Given the description of an element on the screen output the (x, y) to click on. 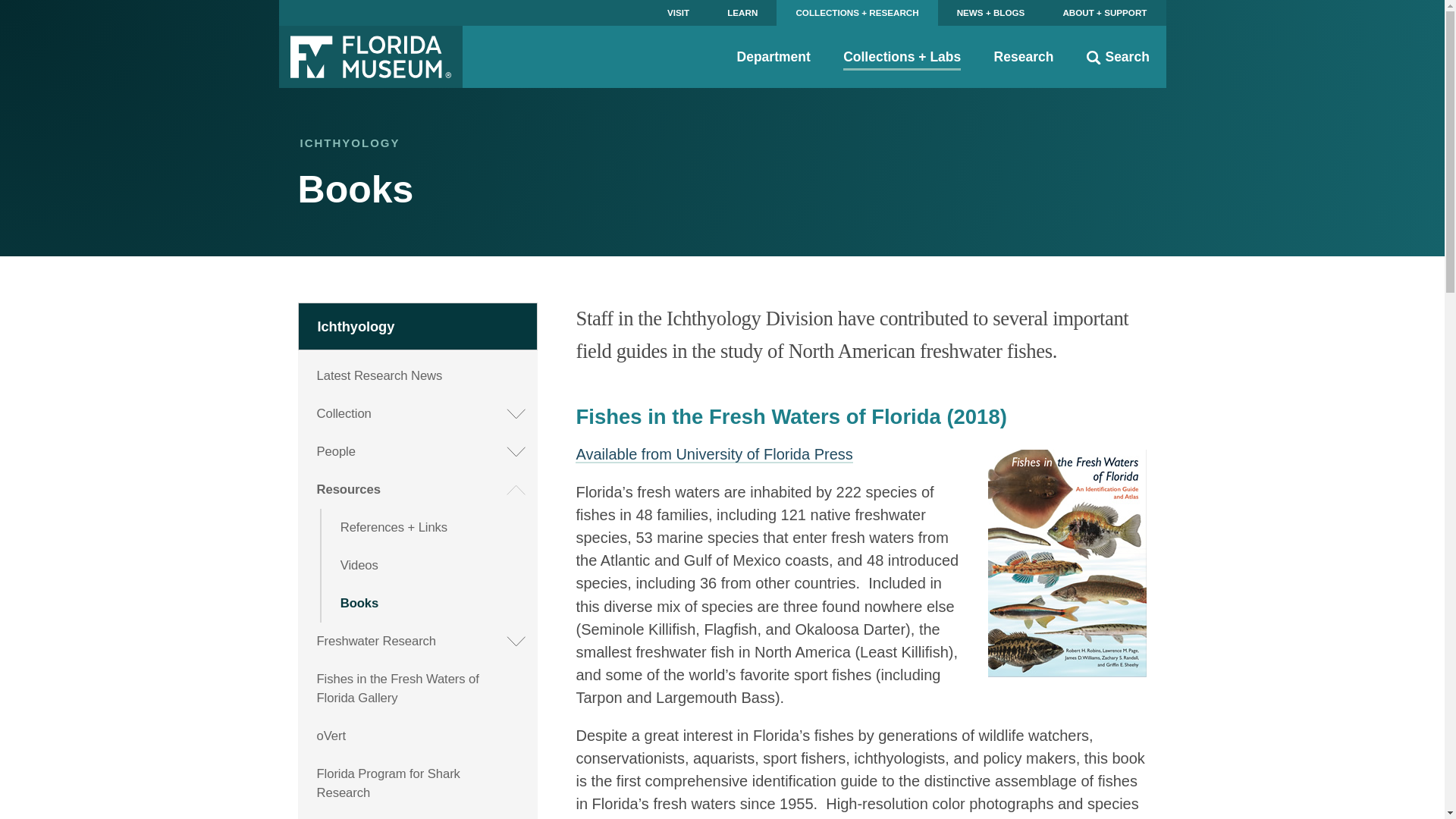
LEARN (741, 12)
Florida Museum (371, 56)
VISIT (677, 12)
Latest Research News (418, 375)
Collection (418, 413)
People (418, 451)
Search (1118, 56)
Ichthyology (418, 326)
Research (1024, 56)
Department (773, 56)
